Given the description of an element on the screen output the (x, y) to click on. 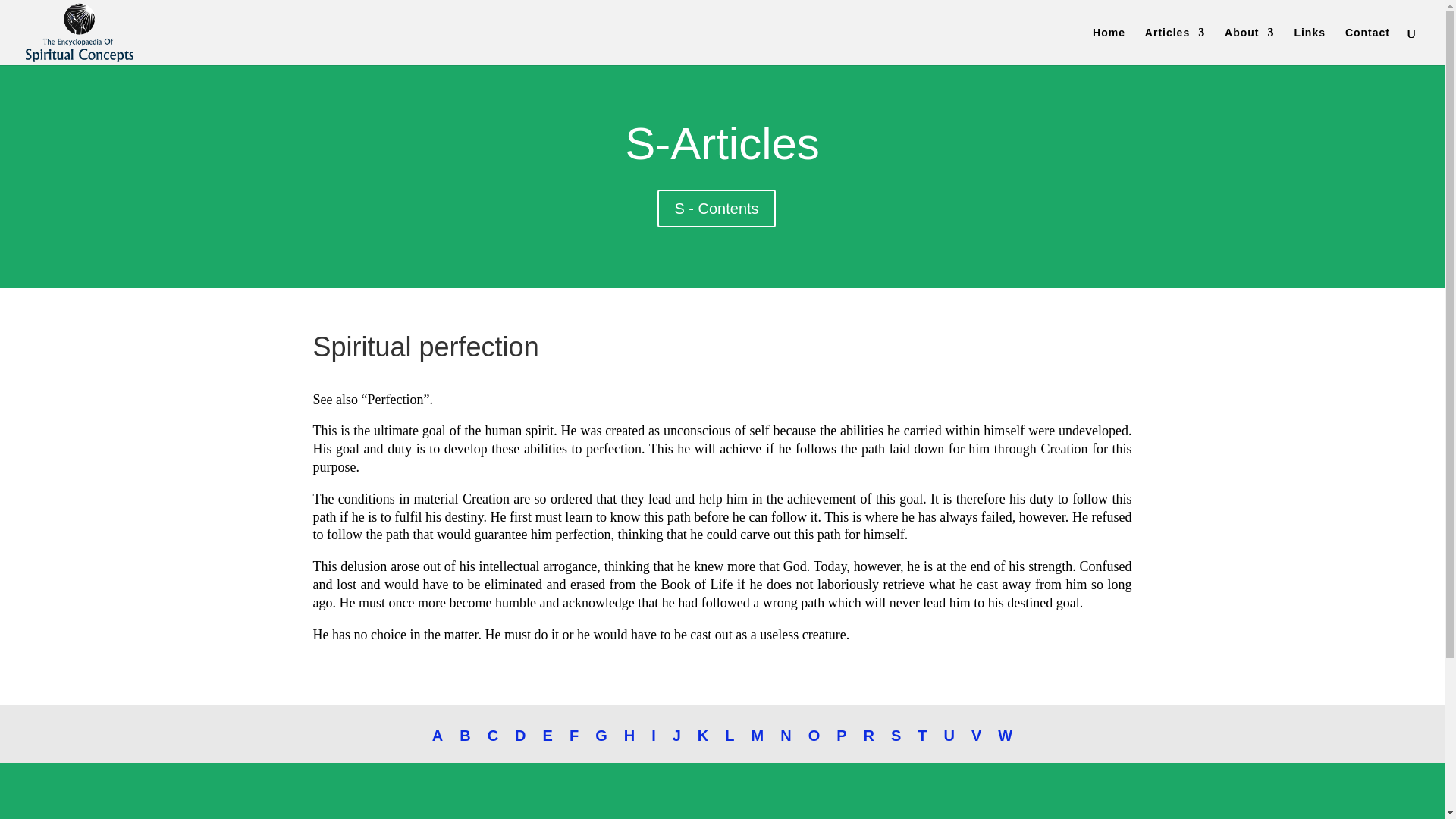
Articles (1174, 46)
About (1249, 46)
S - Contents (716, 208)
Contact (1367, 46)
